Given the description of an element on the screen output the (x, y) to click on. 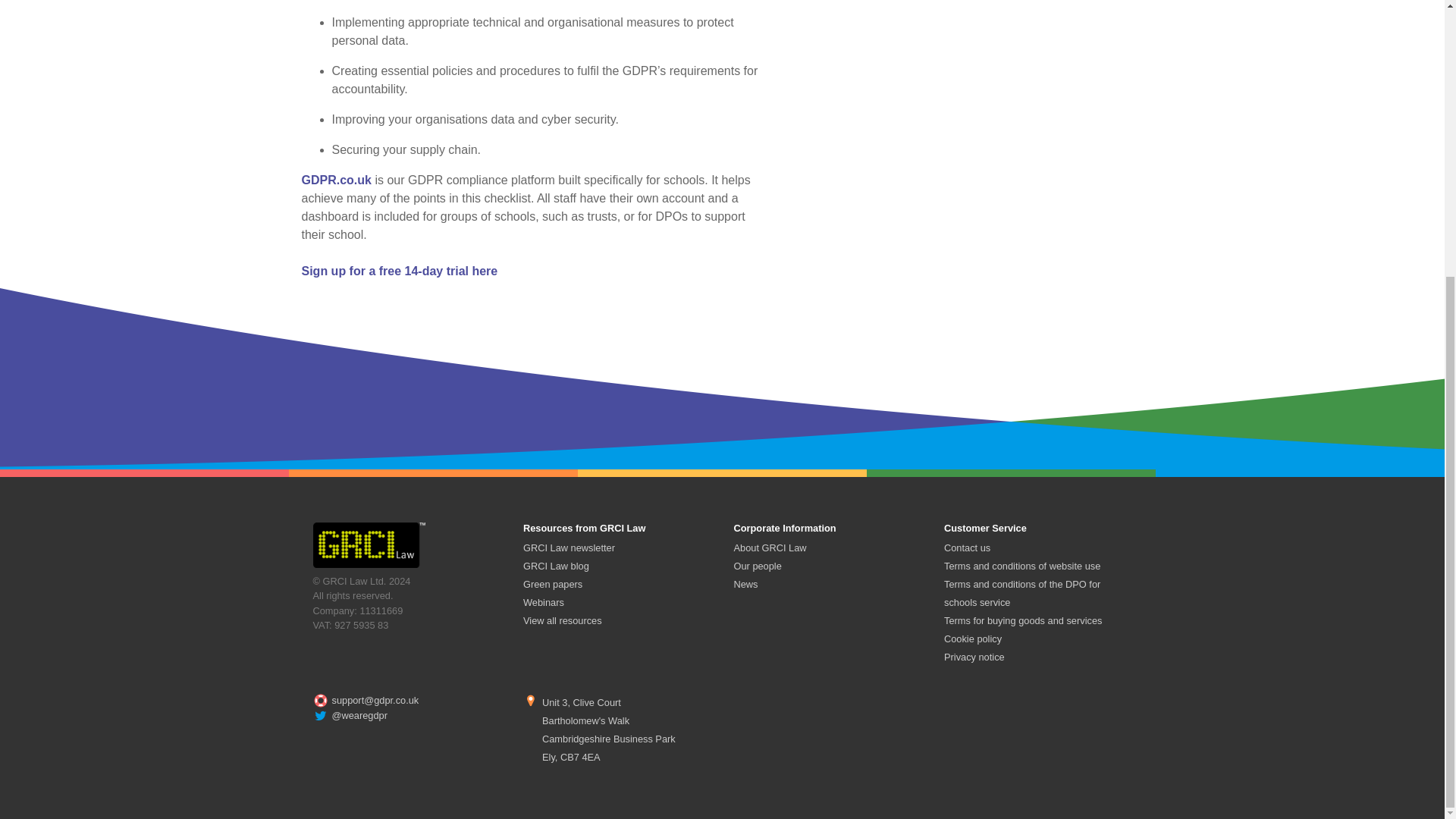
Green papers (552, 583)
Contact us (966, 547)
GRCI Law blog (555, 565)
Sign up for a free 14-day trial here (399, 270)
View all resources (562, 620)
About GRCI Law (769, 547)
Our people (757, 565)
Privacy notice (973, 656)
GRCI Law newsletter (568, 547)
Cookie policy (972, 638)
Terms for buying goods and services (1022, 620)
Terms and conditions of website use (1021, 565)
Terms and conditions of the DPO for schools service (1021, 593)
News (745, 583)
Webinars (543, 602)
